Given the description of an element on the screen output the (x, y) to click on. 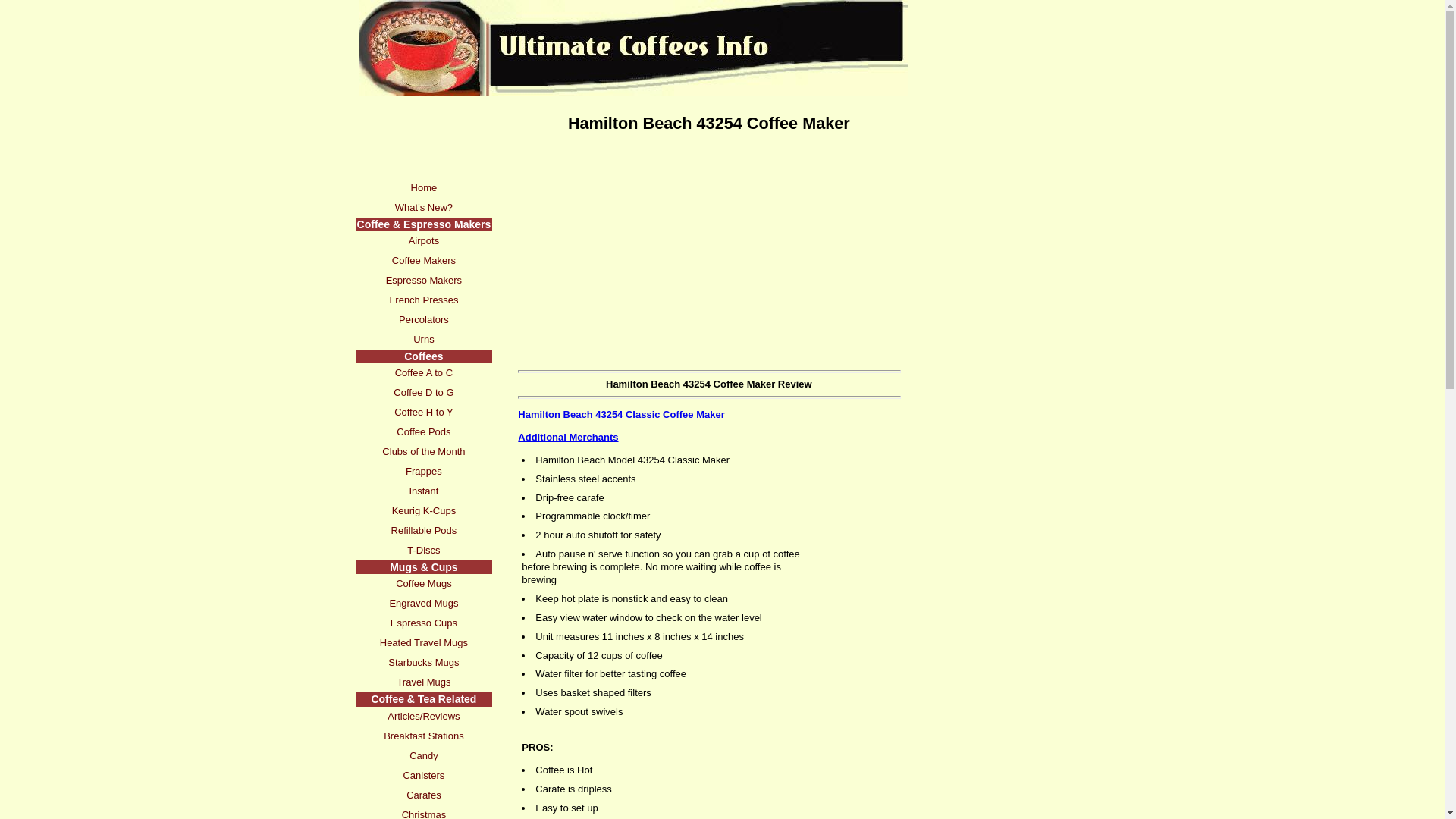
Home (423, 188)
Breakfast Stations (423, 736)
Urns (423, 339)
Travel Mugs (423, 682)
Heated Travel Mugs (423, 642)
Christmas (423, 812)
Coffee Mugs (423, 583)
French Presses (423, 300)
What's New? (423, 207)
Coffee D to G (423, 392)
Coffee Pods (423, 432)
Espresso Makers (423, 280)
Frappes (423, 471)
T-Discs (423, 550)
Candy (423, 755)
